Given the description of an element on the screen output the (x, y) to click on. 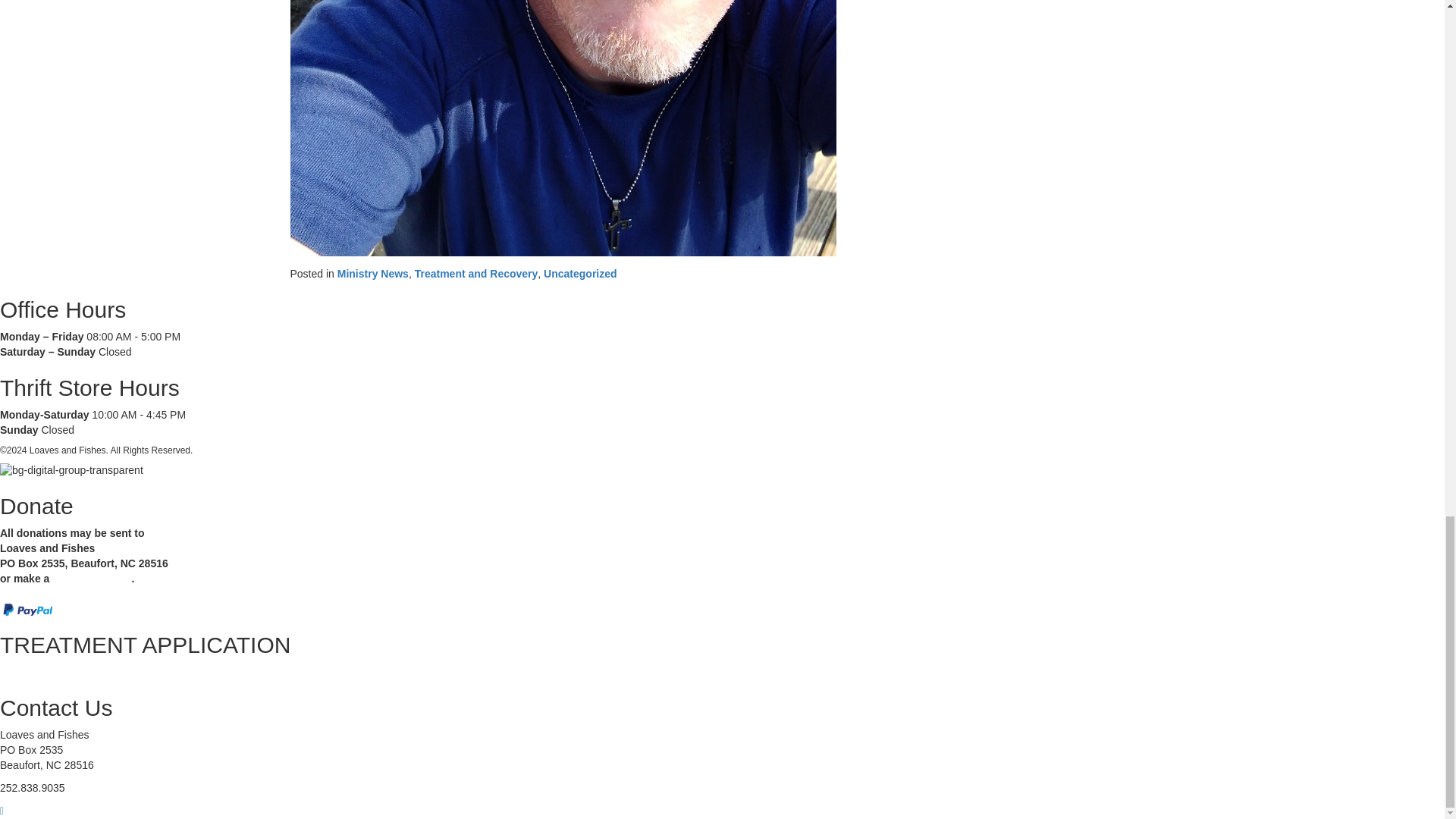
Uncategorized (579, 268)
bg-digital-group-transparent (74, 468)
Ministry News (373, 268)
Treatment and Recovery (476, 268)
